Given the description of an element on the screen output the (x, y) to click on. 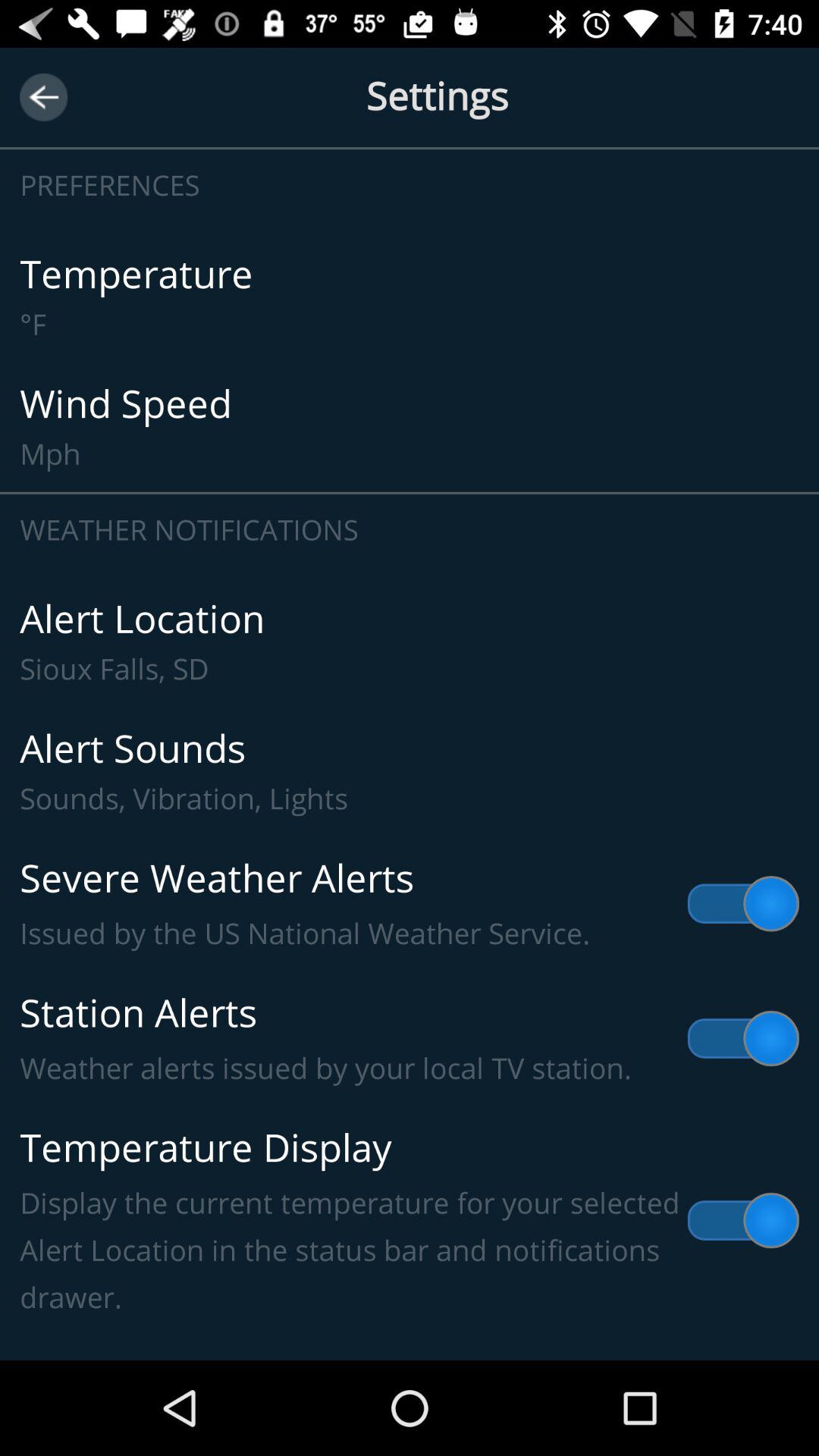
press wind speed
mph item (409, 426)
